Given the description of an element on the screen output the (x, y) to click on. 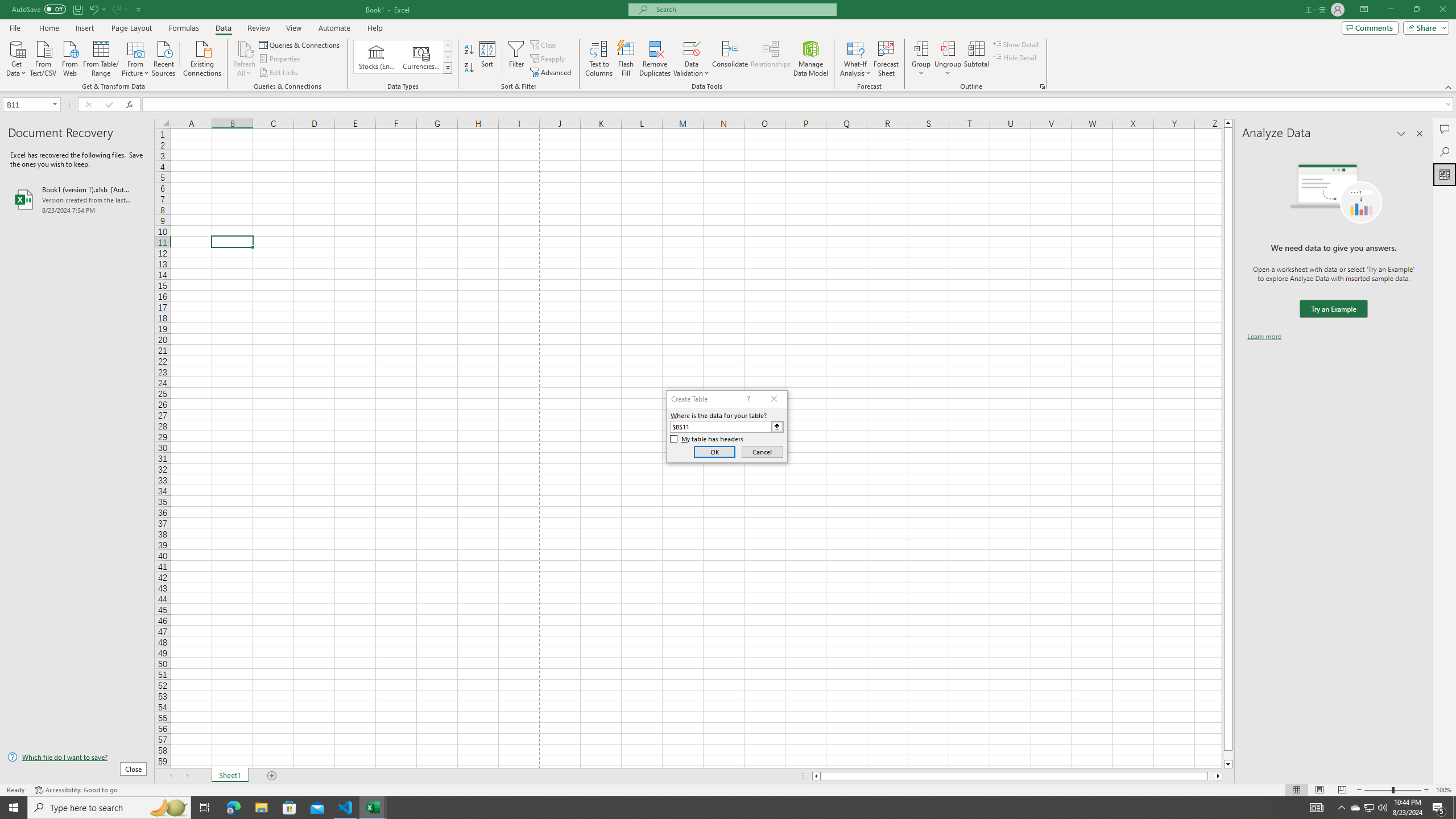
Ungroup... (947, 48)
Data Validation... (691, 58)
Row up (448, 45)
Accessibility Checker Accessibility: Good to go (76, 790)
Text to Columns... (598, 58)
Consolidate... (729, 58)
Flash Fill (625, 58)
From Text/CSV (43, 57)
Line down (1228, 764)
Relationships (770, 58)
Scroll Left (171, 775)
